Given the description of an element on the screen output the (x, y) to click on. 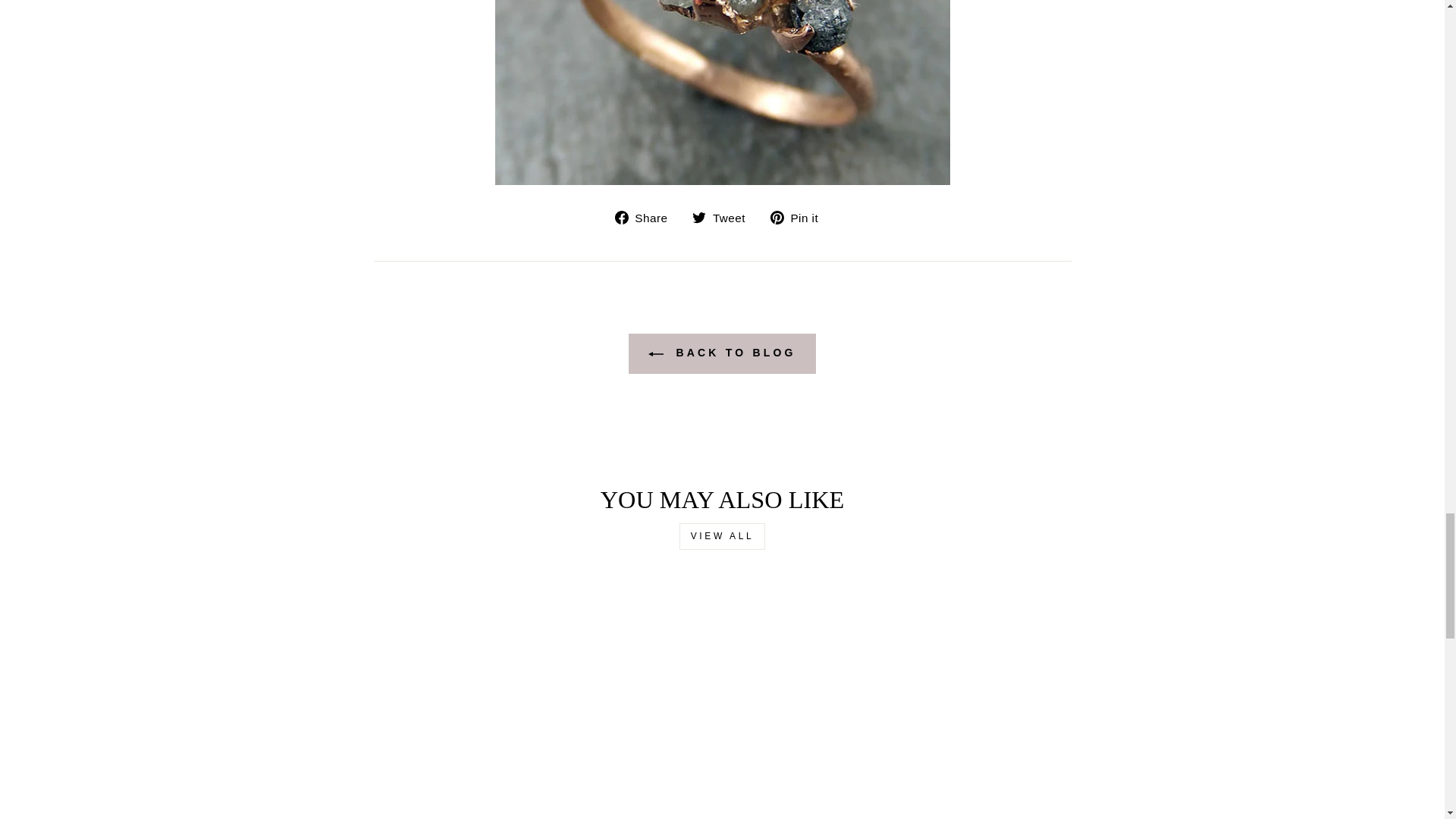
ICON-LEFT-ARROW (655, 353)
Share on Facebook (646, 217)
Tweet on Twitter (725, 217)
twitter (699, 217)
Pin on Pinterest (799, 217)
